Given the description of an element on the screen output the (x, y) to click on. 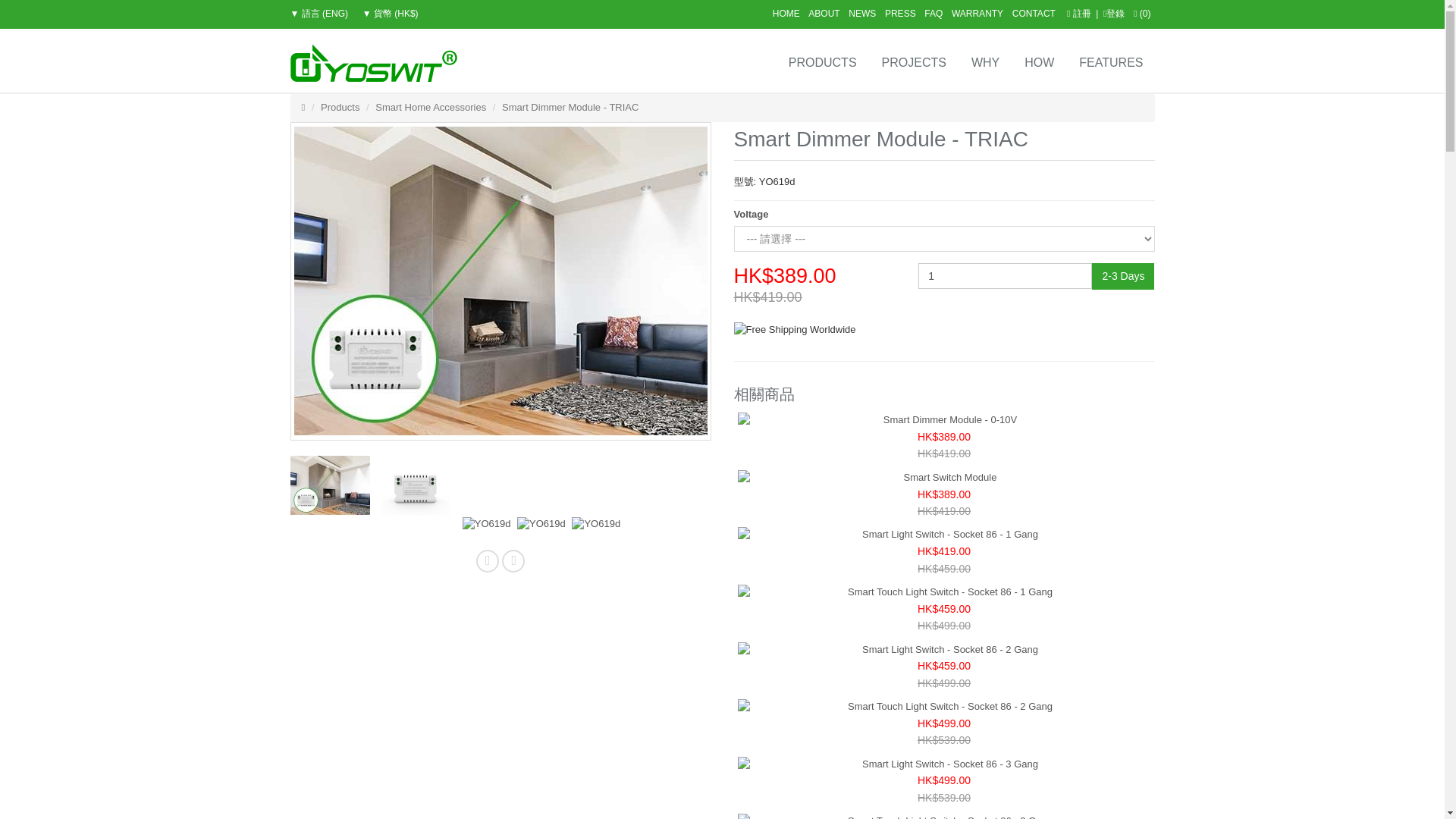
NEWS (862, 13)
Smart Light Switch - Socket 86 - 1 Gang (943, 534)
HOME (786, 13)
YO619d (596, 523)
1 (1005, 275)
PROJECTS (912, 60)
Smart Switch Module (943, 478)
PRODUCTS (820, 60)
CONTACT (1033, 13)
Yoswit Hong Kong Online Store (373, 62)
YO619d (415, 485)
FAQ (933, 13)
PRESS (900, 13)
FEATURES (1109, 60)
Smart Dimmer Module - 0-10V (943, 420)
